Given the description of an element on the screen output the (x, y) to click on. 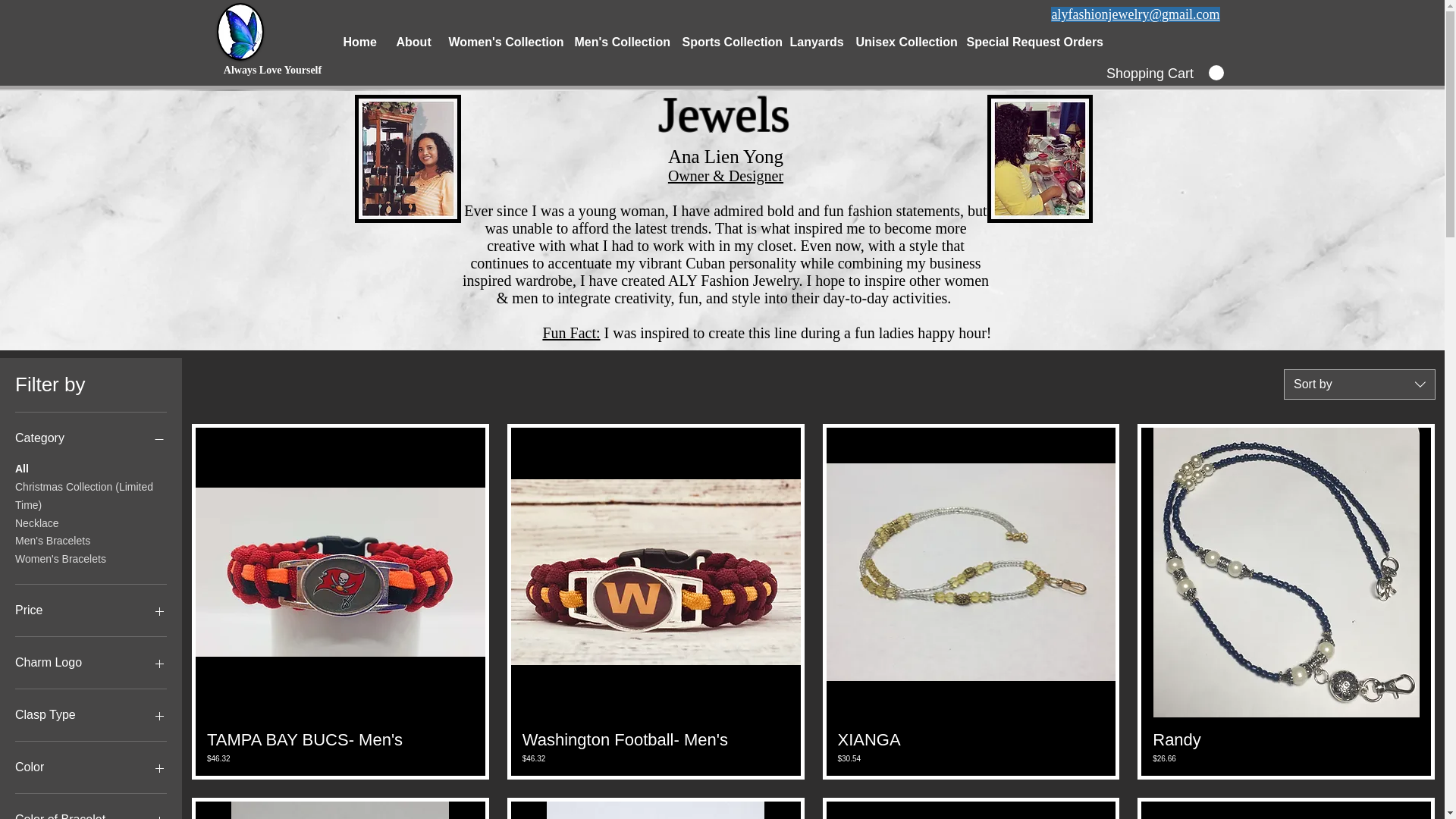
Unisex Collection (899, 41)
Category (90, 437)
Men's Collection (615, 41)
Color of Bracelet (90, 814)
Charm Logo (90, 662)
Shopping Cart (1164, 73)
Color (90, 767)
Home (358, 41)
Women's Collection (499, 41)
Clasp Type (90, 714)
Shopping Cart (1164, 73)
Always Love Yourself (272, 69)
